Given the description of an element on the screen output the (x, y) to click on. 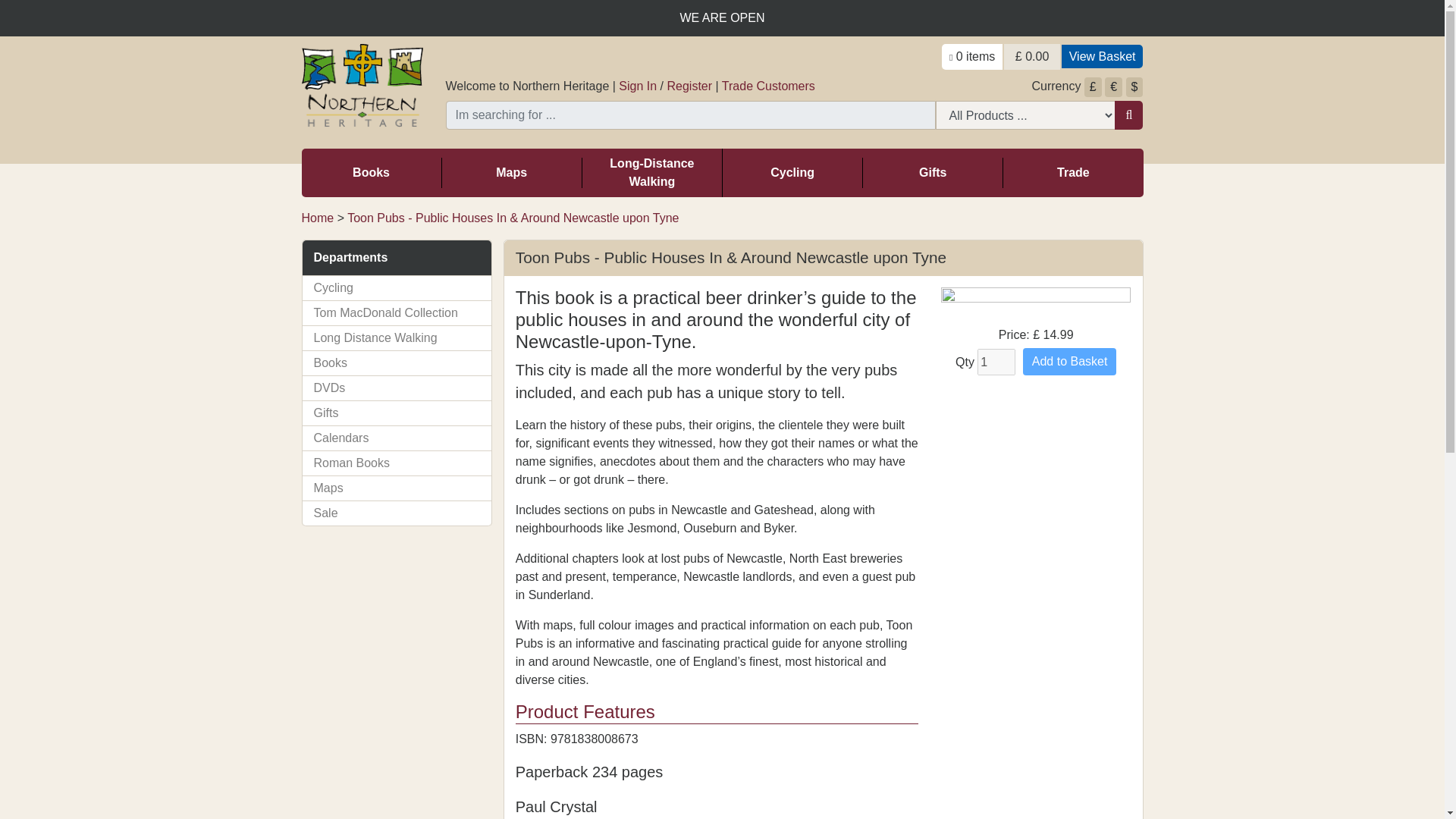
Gifts (933, 173)
View Basket (1101, 56)
Register (689, 85)
Long-Distance Walking (652, 172)
Trade Customers (768, 85)
Home (317, 217)
1 (995, 361)
Trade (1072, 173)
Cycling (791, 173)
Maps (511, 173)
